Given the description of an element on the screen output the (x, y) to click on. 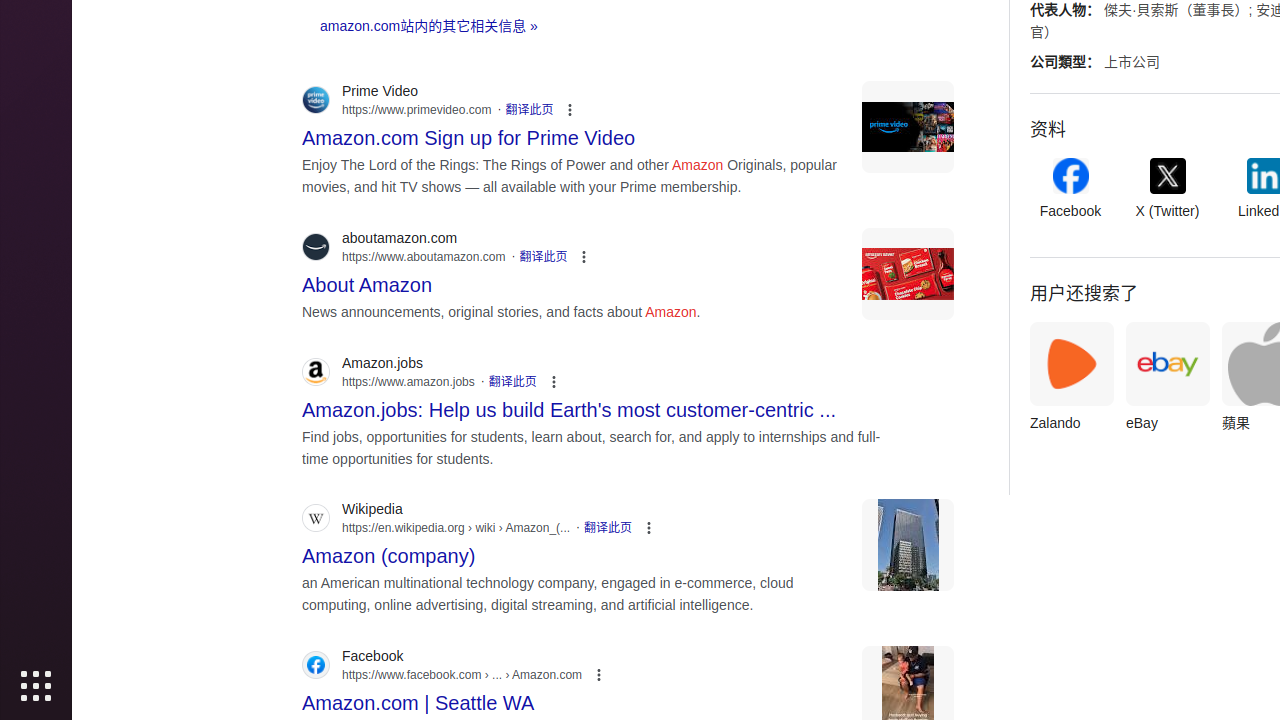
来自www.aboutamazon.com的“amazon” Element type: link (908, 273)
 Amazon (company) Wikipedia https://en.wikipedia.org › wiki › Amazon_(... Element type: link (389, 550)
amazon.com站内的其它相关信息 » Element type: link (429, 25)
X (Twitter) Element type: link (1167, 189)
Show Applications Element type: toggle-button (36, 686)
